Given the description of an element on the screen output the (x, y) to click on. 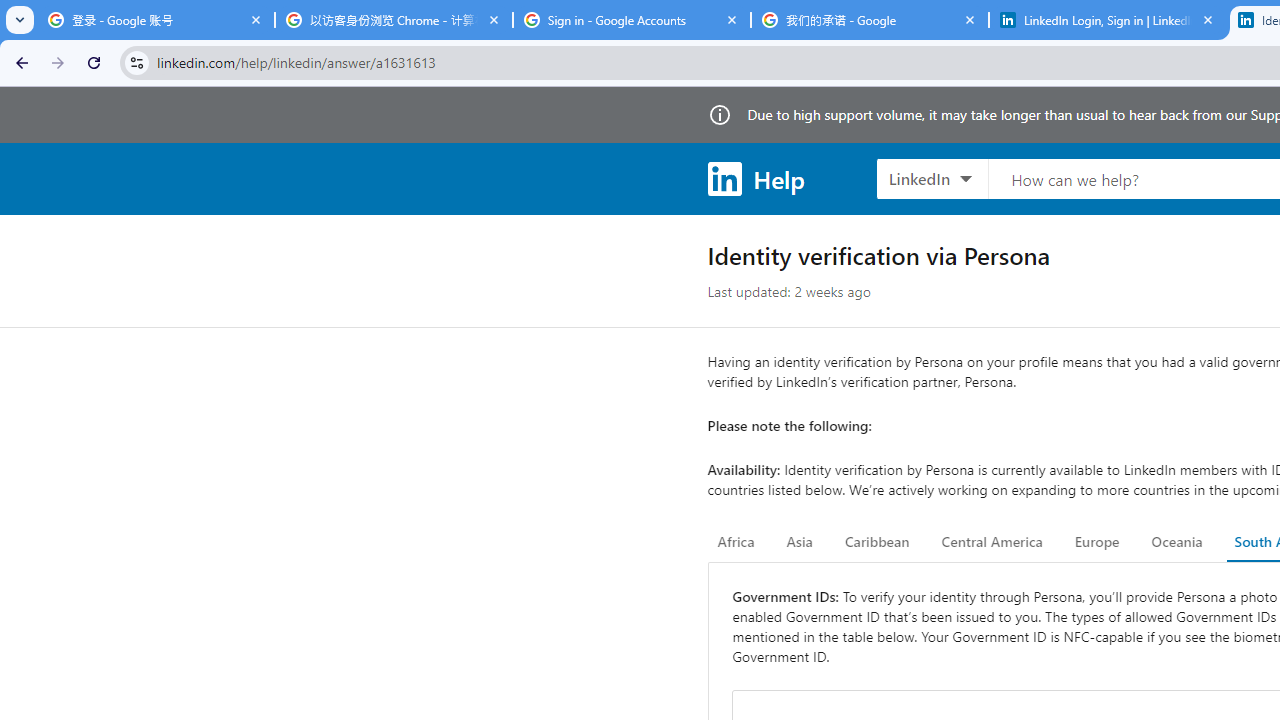
Caribbean (876, 542)
Central America (991, 542)
